Given the description of an element on the screen output the (x, y) to click on. 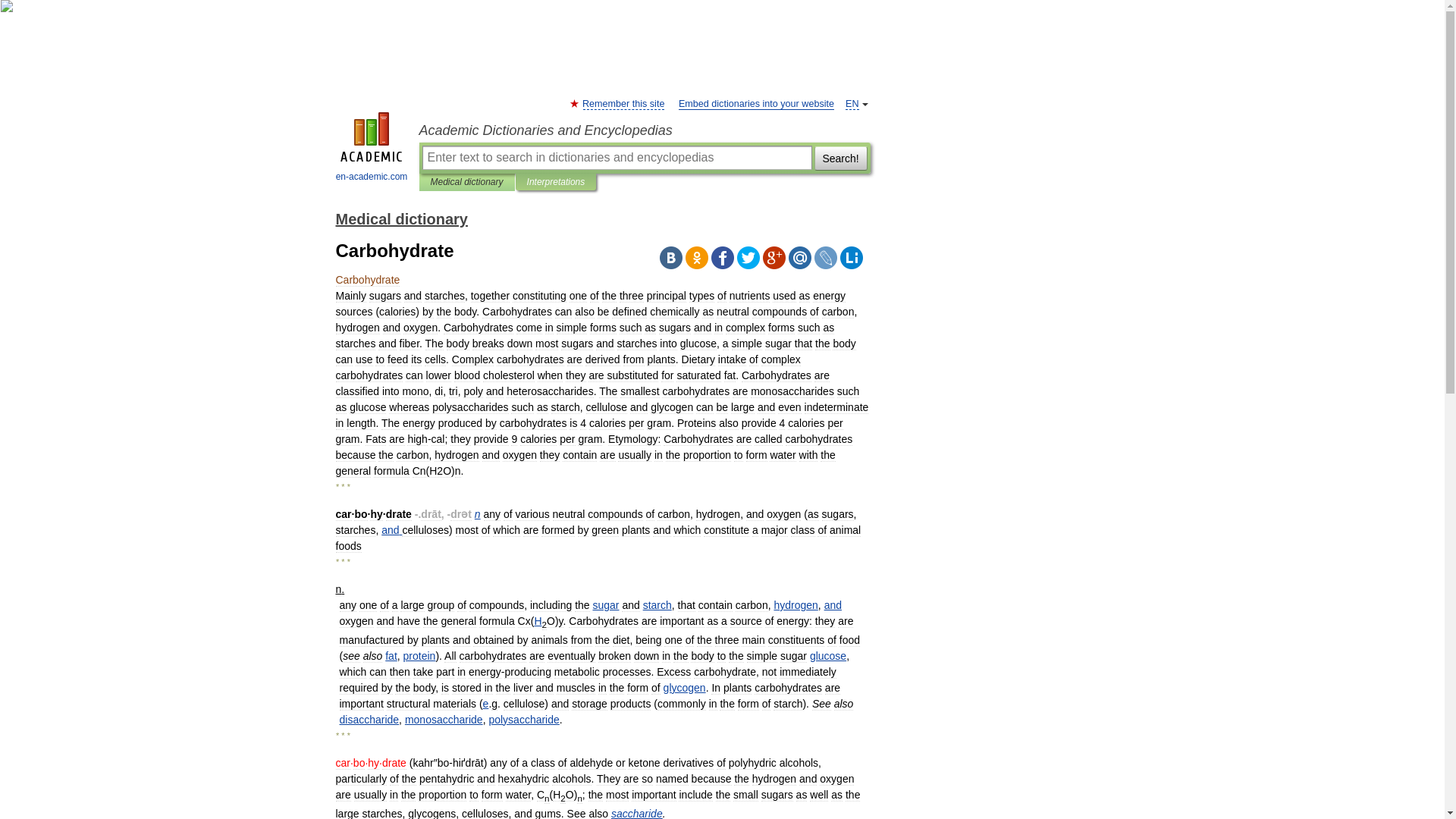
saccharide (636, 813)
EN (852, 103)
Interpretations (556, 181)
protein (419, 655)
Medical dictionary (400, 218)
glycogen (684, 687)
Search! (840, 157)
Embed dictionaries into your website (756, 103)
fat (391, 655)
en-academic.com (371, 148)
Medical dictionary (466, 181)
monosaccharide (443, 719)
disaccharide (368, 719)
Remember this site (623, 103)
glucose (827, 655)
